Given the description of an element on the screen output the (x, y) to click on. 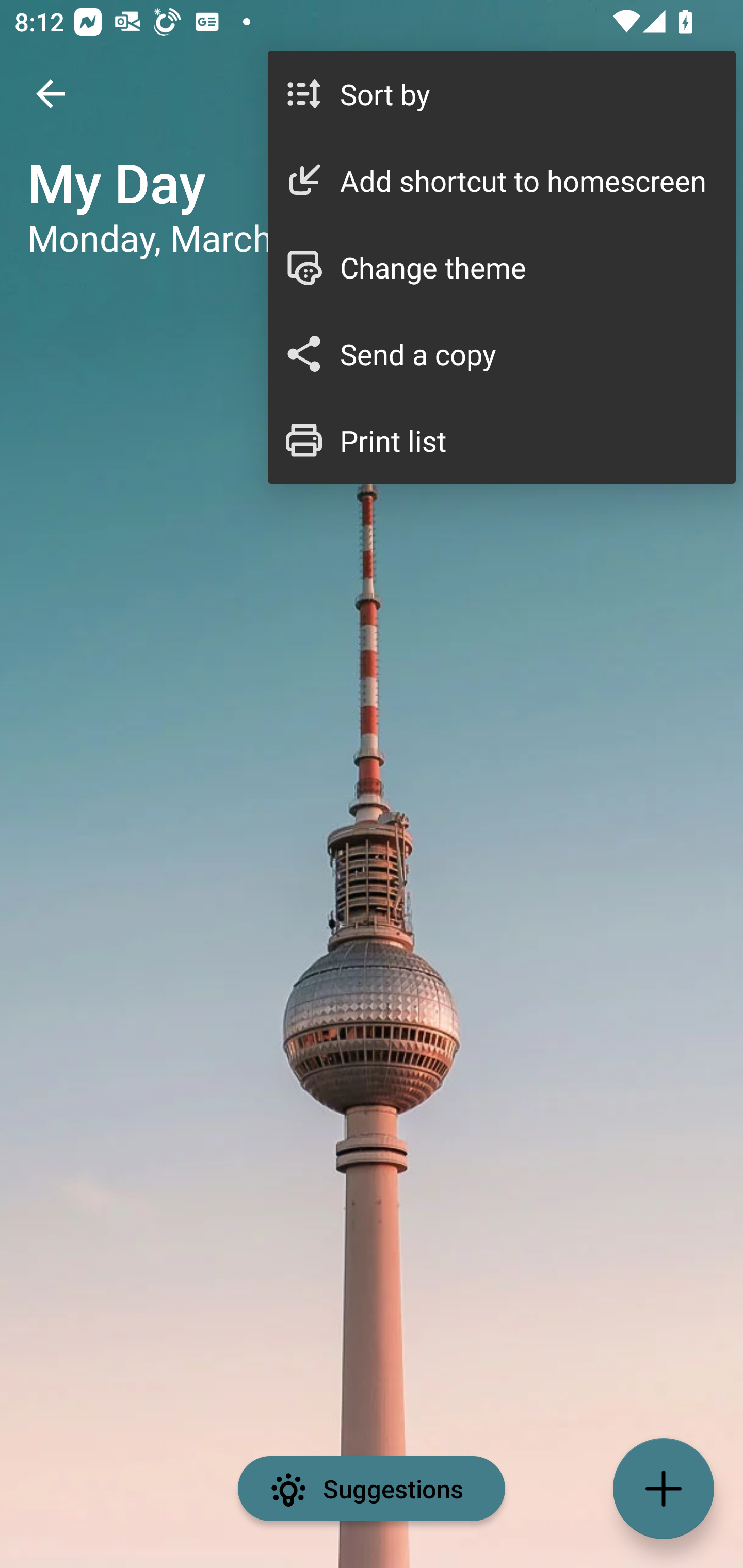
Sort by1 in 5 Sort by (501, 93)
Change theme3 in 5 Change theme (501, 267)
Send a copy4 in 5 Send a copy (501, 353)
Print list5 in 5 Print list (501, 440)
